Given the description of an element on the screen output the (x, y) to click on. 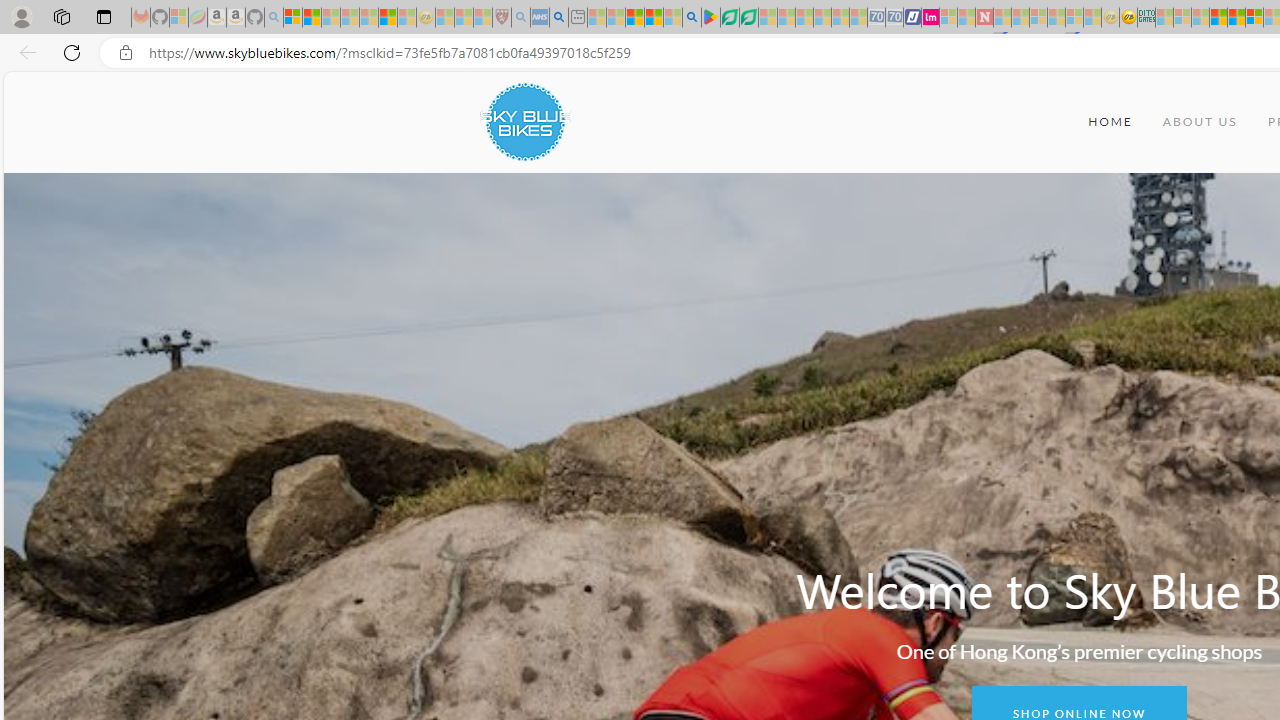
Microsoft Start - Sleeping (966, 17)
